Given the description of an element on the screen output the (x, y) to click on. 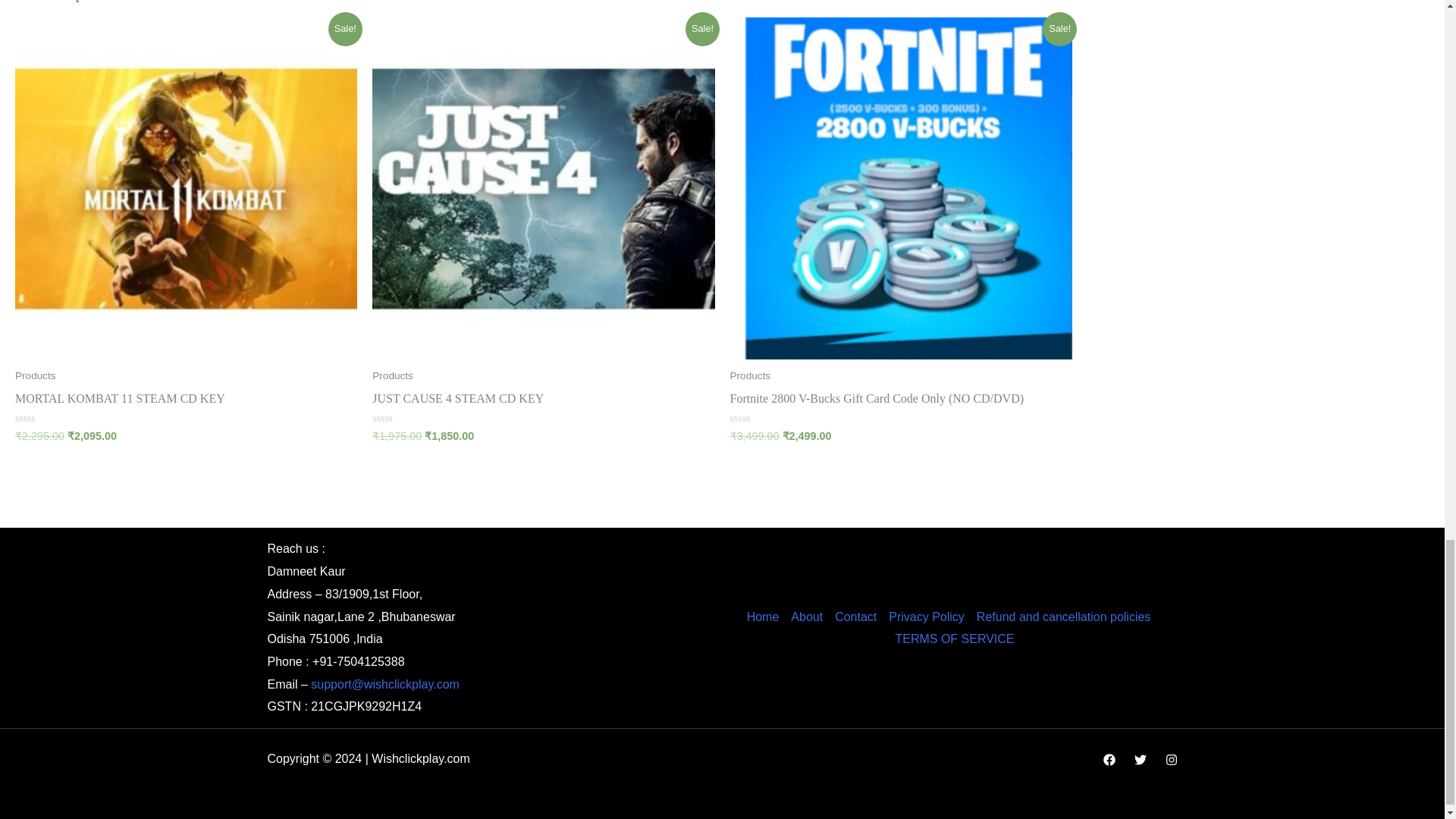
MORTAL KOMBAT 11 STEAM CD KEY (185, 402)
JUST CAUSE 4 STEAM CD KEY (543, 402)
Home (766, 616)
